Given the description of an element on the screen output the (x, y) to click on. 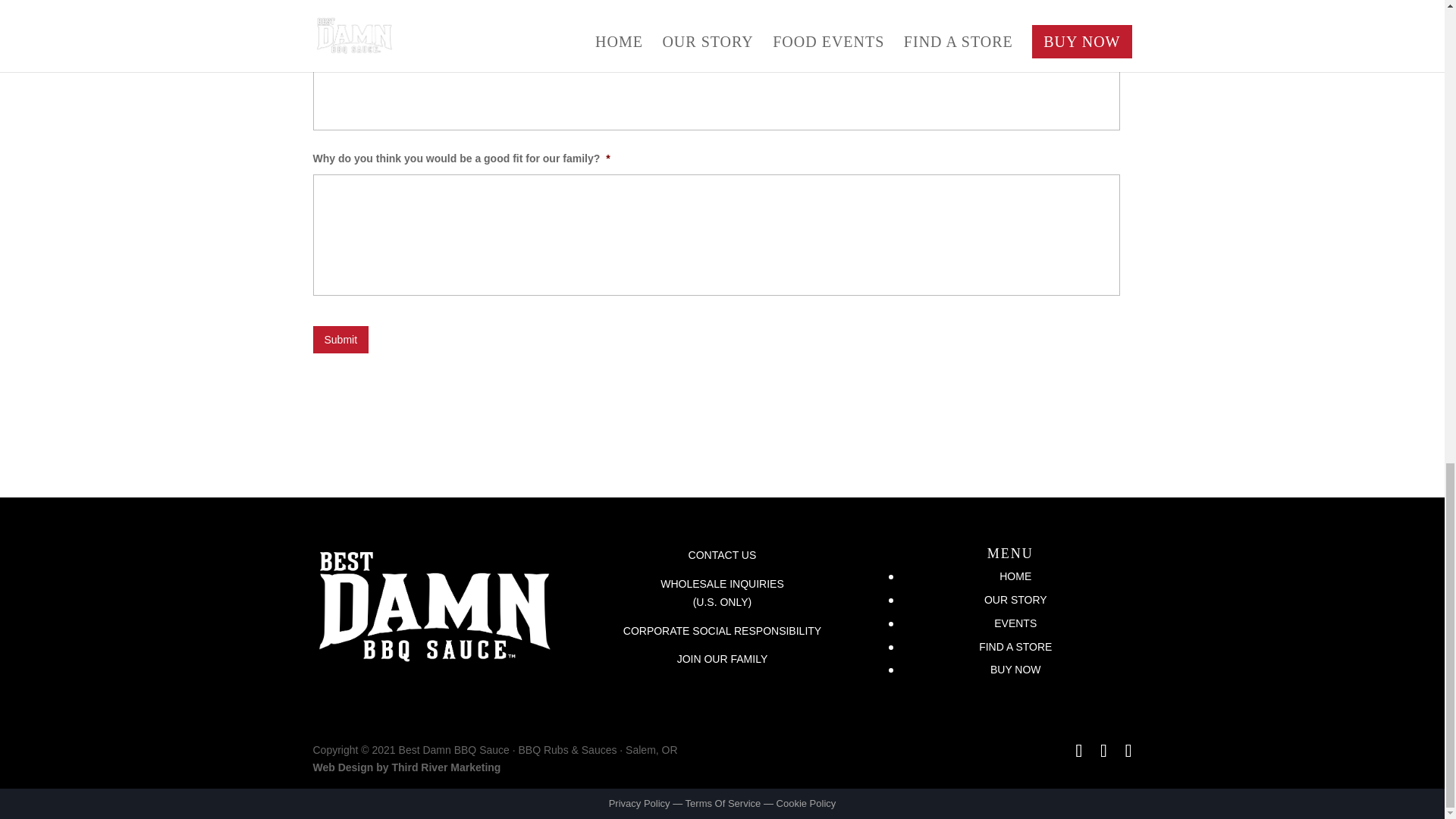
HOME (1014, 576)
Privacy Policy (638, 803)
CONTACT US (721, 556)
Submit (340, 338)
JOIN OUR FAMILY (722, 658)
Submit (340, 338)
EVENTS (1015, 623)
FIND A STORE (1014, 646)
Terms Of Service (723, 803)
Web Design by Third River Marketing (406, 767)
